Given the description of an element on the screen output the (x, y) to click on. 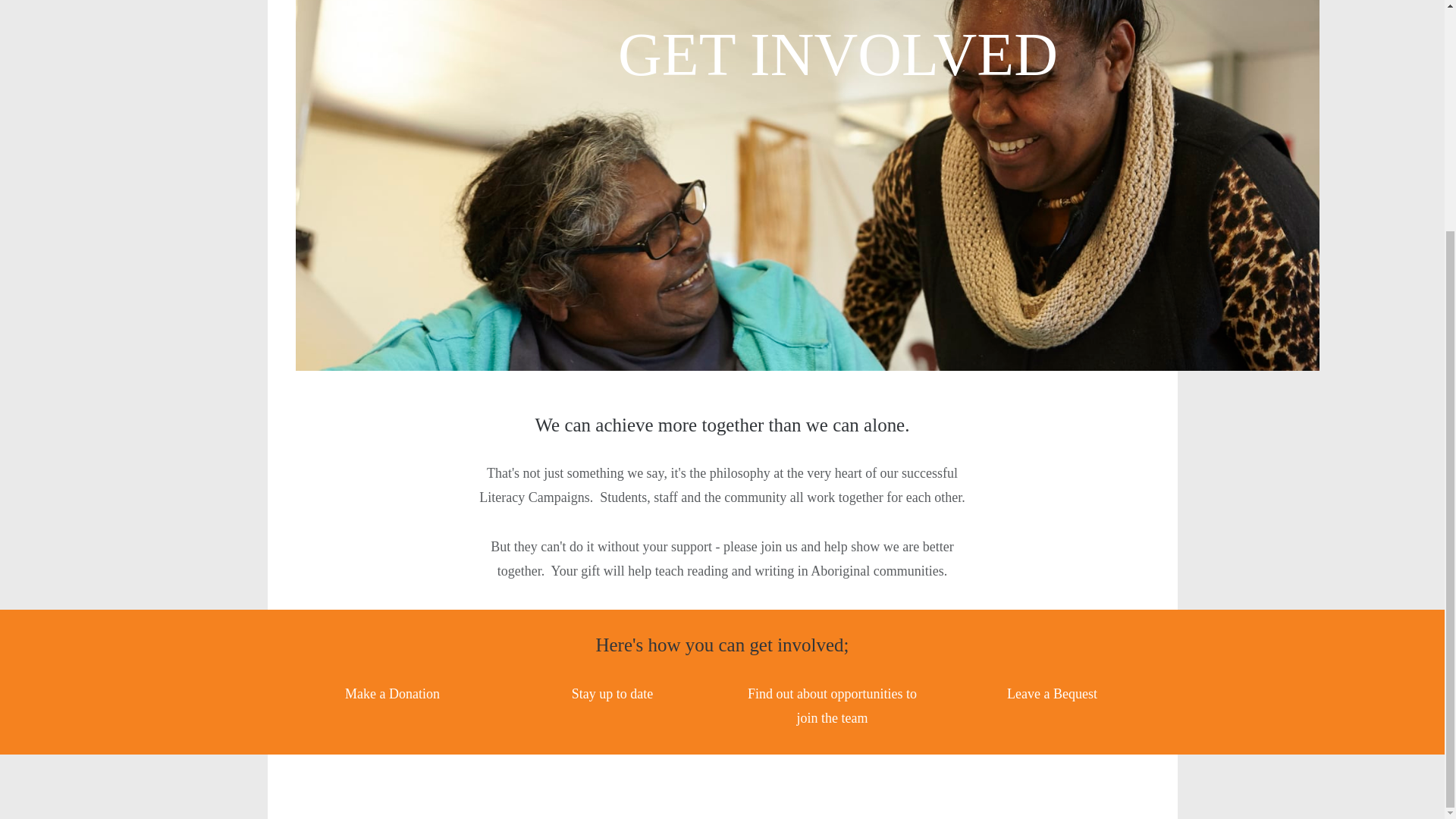
Stay up to date (612, 693)
Leave a Bequest (1052, 693)
Find out about opportunities to join the team (832, 705)
Make a Donation (392, 693)
